Given the description of an element on the screen output the (x, y) to click on. 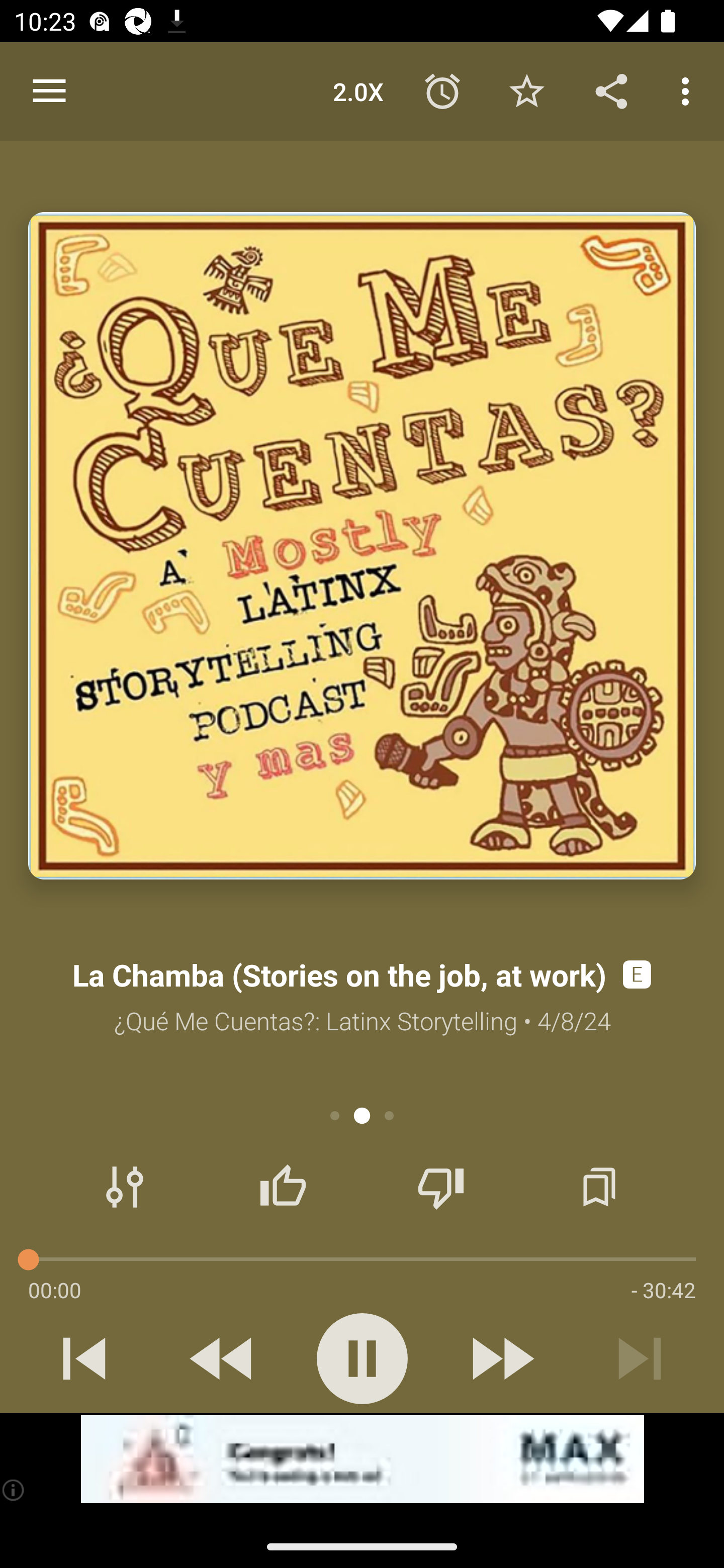
Open navigation sidebar (49, 91)
2.0X (357, 90)
Sleep Timer (442, 90)
Favorite (526, 90)
Share (611, 90)
More options (688, 90)
Episode description (361, 545)
Audio effects (124, 1186)
Thumbs up (283, 1186)
Thumbs down (440, 1186)
Chapters / Bookmarks (598, 1186)
- 30:42 (663, 1289)
Previous track (84, 1358)
Skip 15s backward (222, 1358)
Play / Pause (362, 1358)
Skip 30s forward (500, 1358)
Next track (639, 1358)
app-monetization (362, 1459)
(i) (14, 1489)
